Given the description of an element on the screen output the (x, y) to click on. 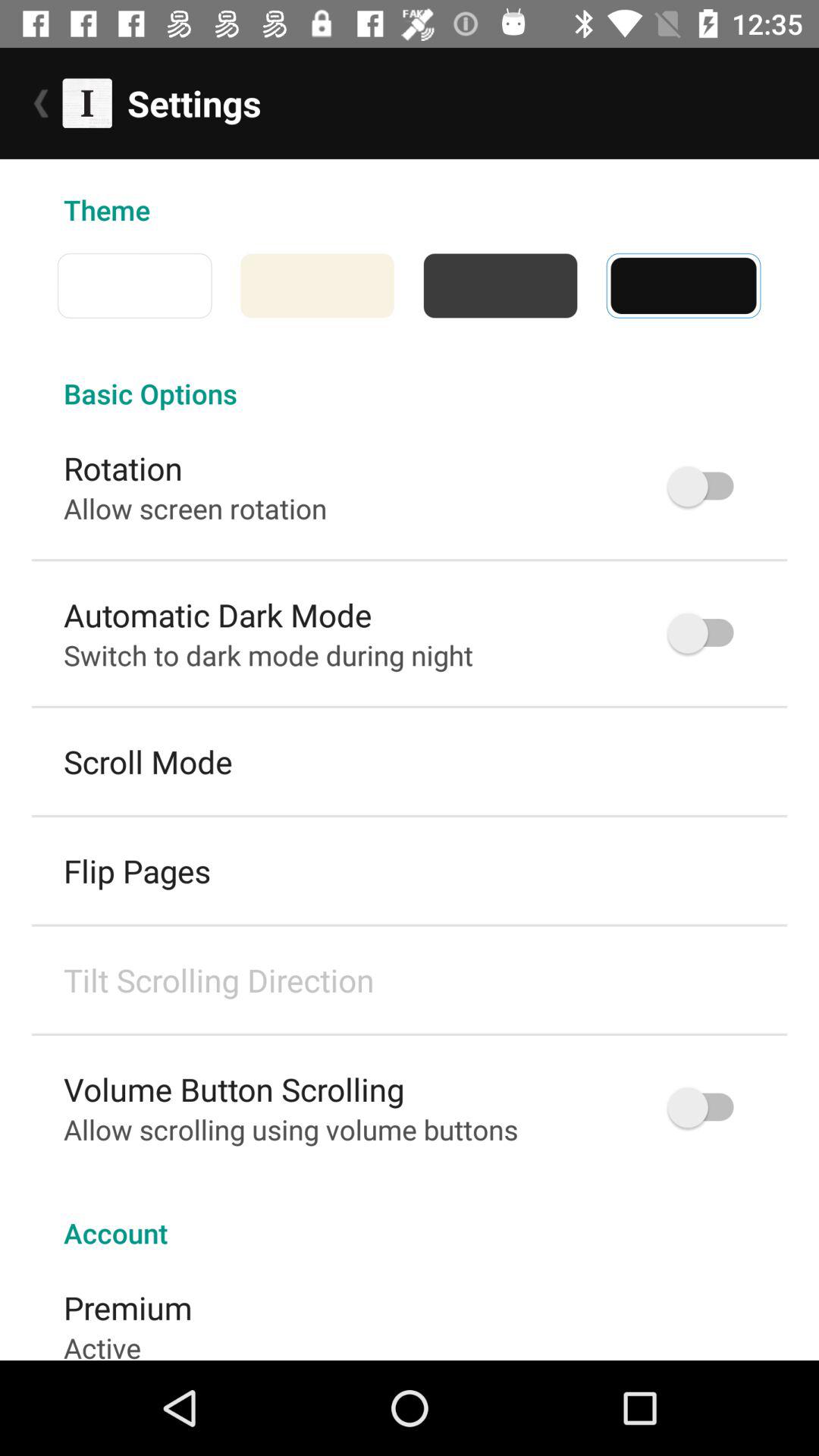
launch the account (409, 1216)
